Given the description of an element on the screen output the (x, y) to click on. 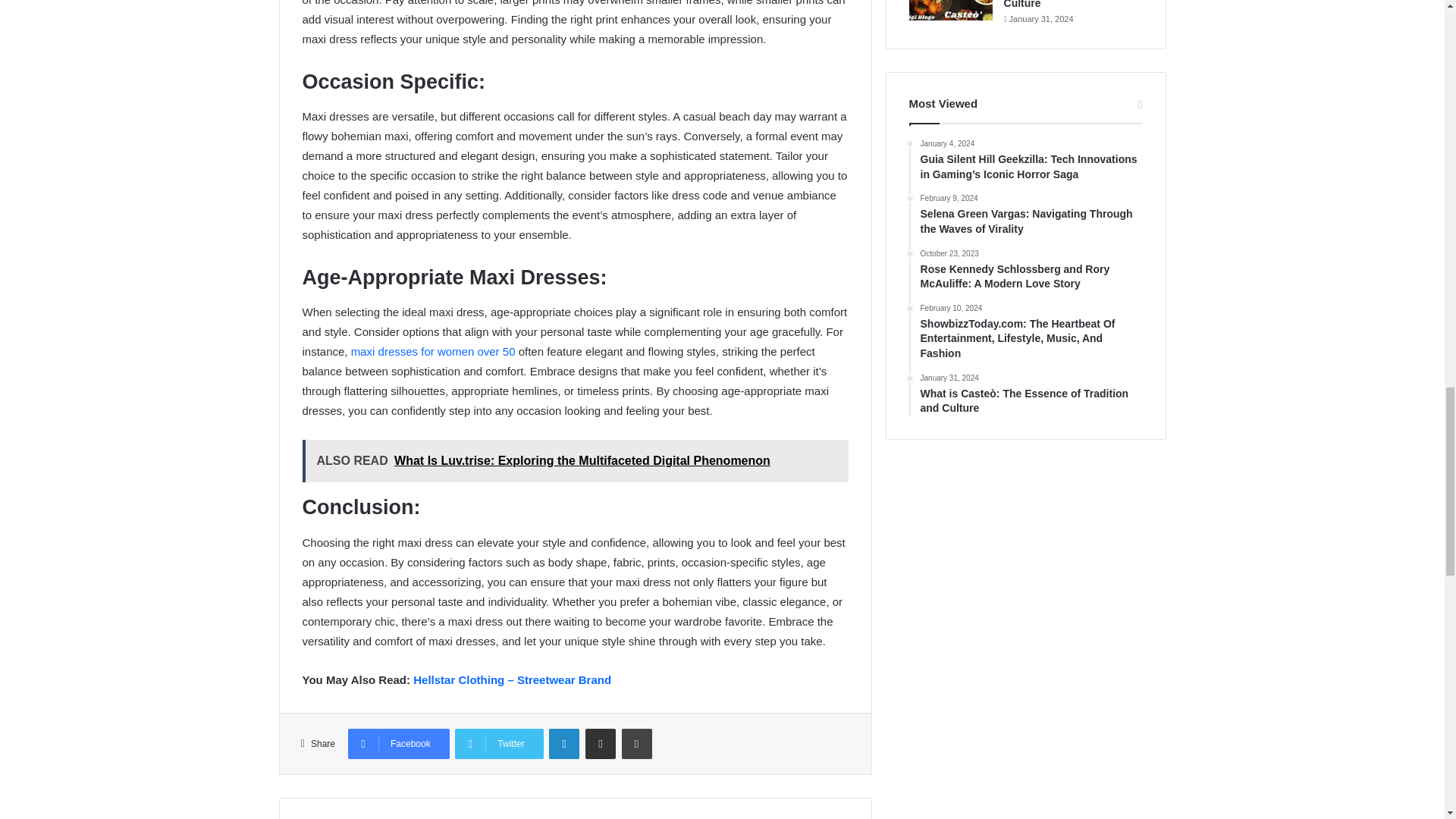
maxi dresses for women over 50 (432, 350)
